Given the description of an element on the screen output the (x, y) to click on. 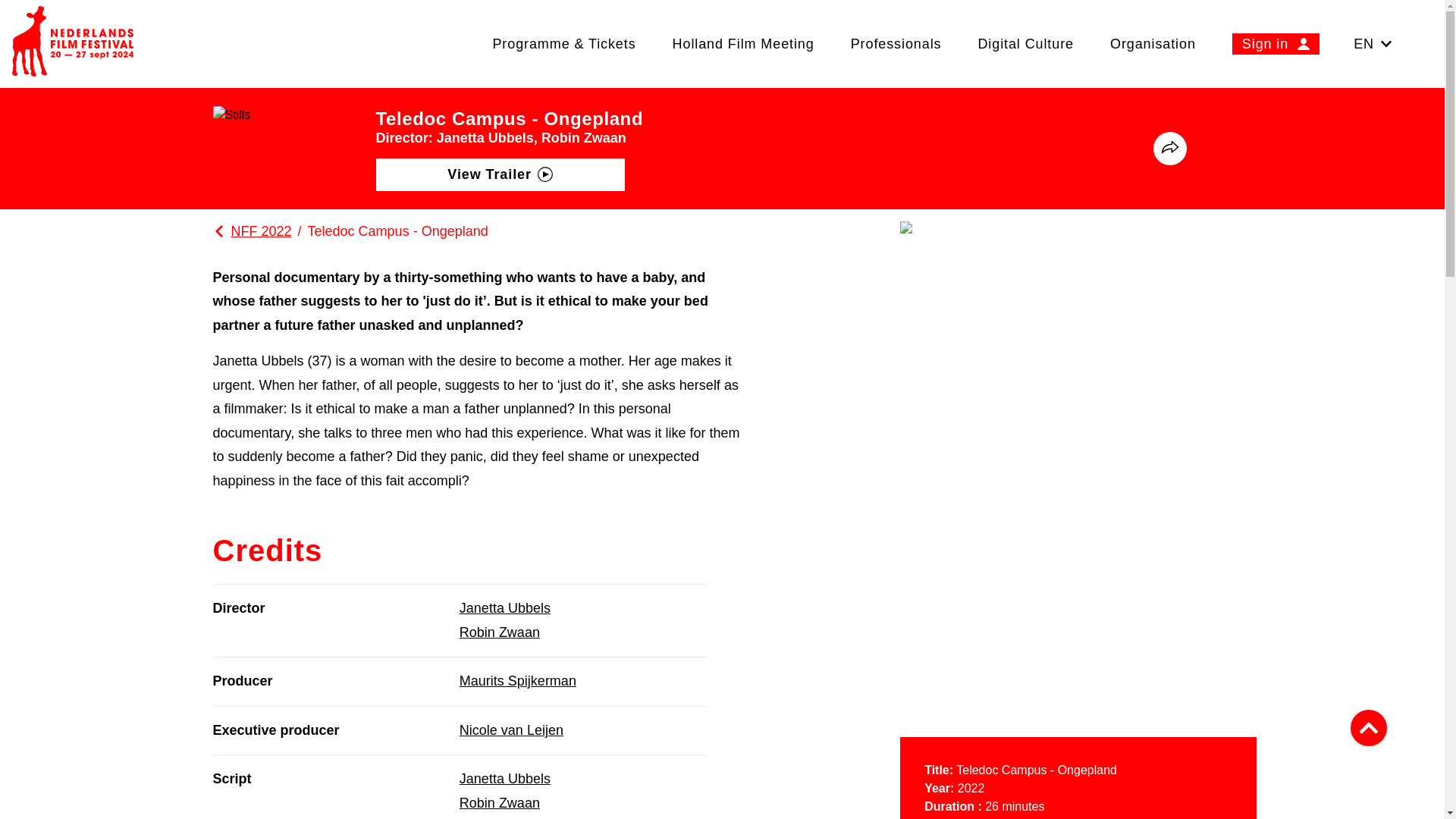
Holland Film Meeting (742, 43)
Organisation (1153, 43)
Holland Film Meeting (742, 43)
View Trailer (499, 174)
Organisation (1153, 43)
Digital Culture (1025, 43)
Visit the homepage (72, 43)
